Given the description of an element on the screen output the (x, y) to click on. 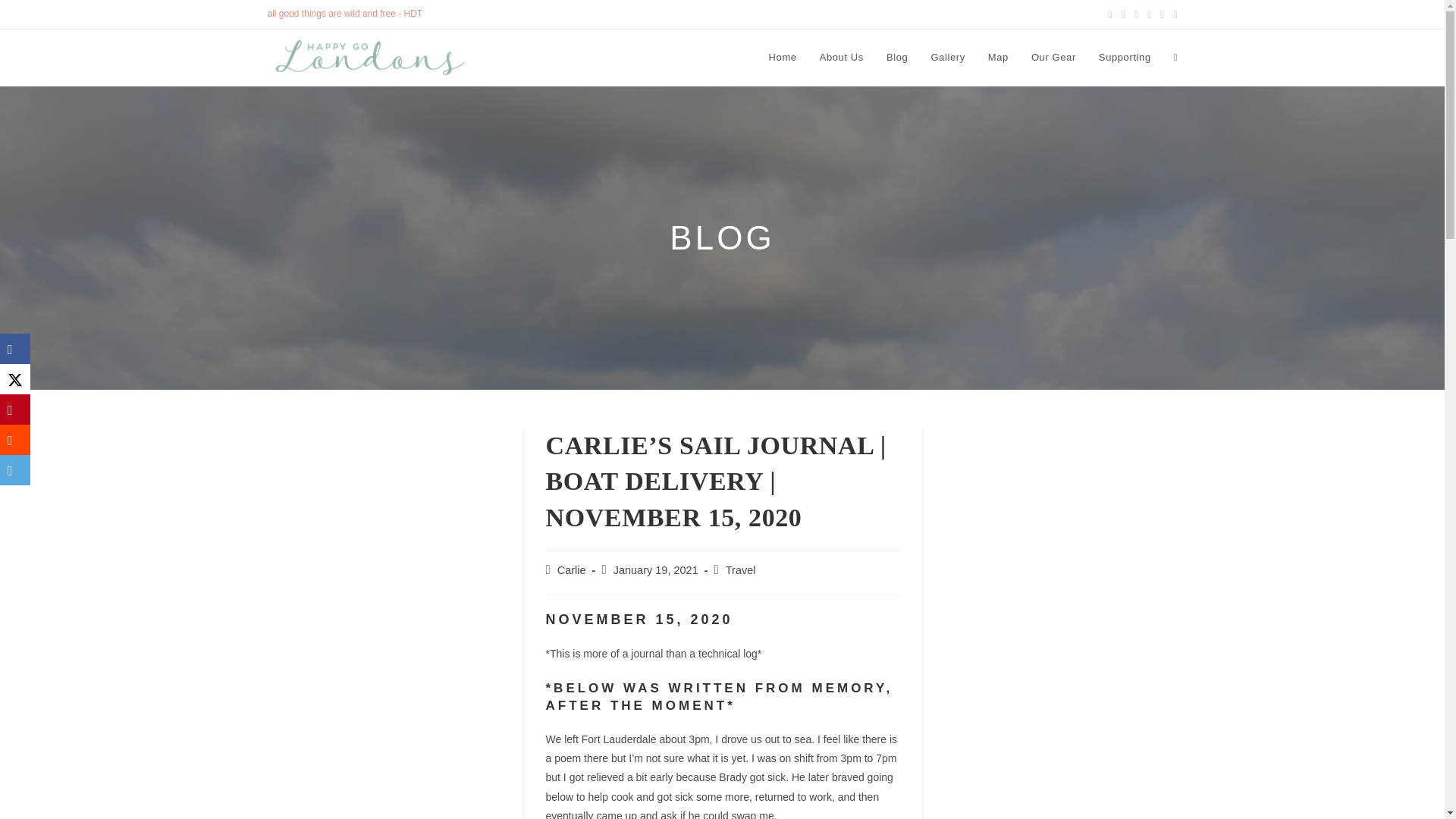
Posts by Carlie (571, 570)
Home (782, 57)
Gallery (946, 57)
About Us (841, 57)
Supporting (1124, 57)
Our Gear (1053, 57)
